Given the description of an element on the screen output the (x, y) to click on. 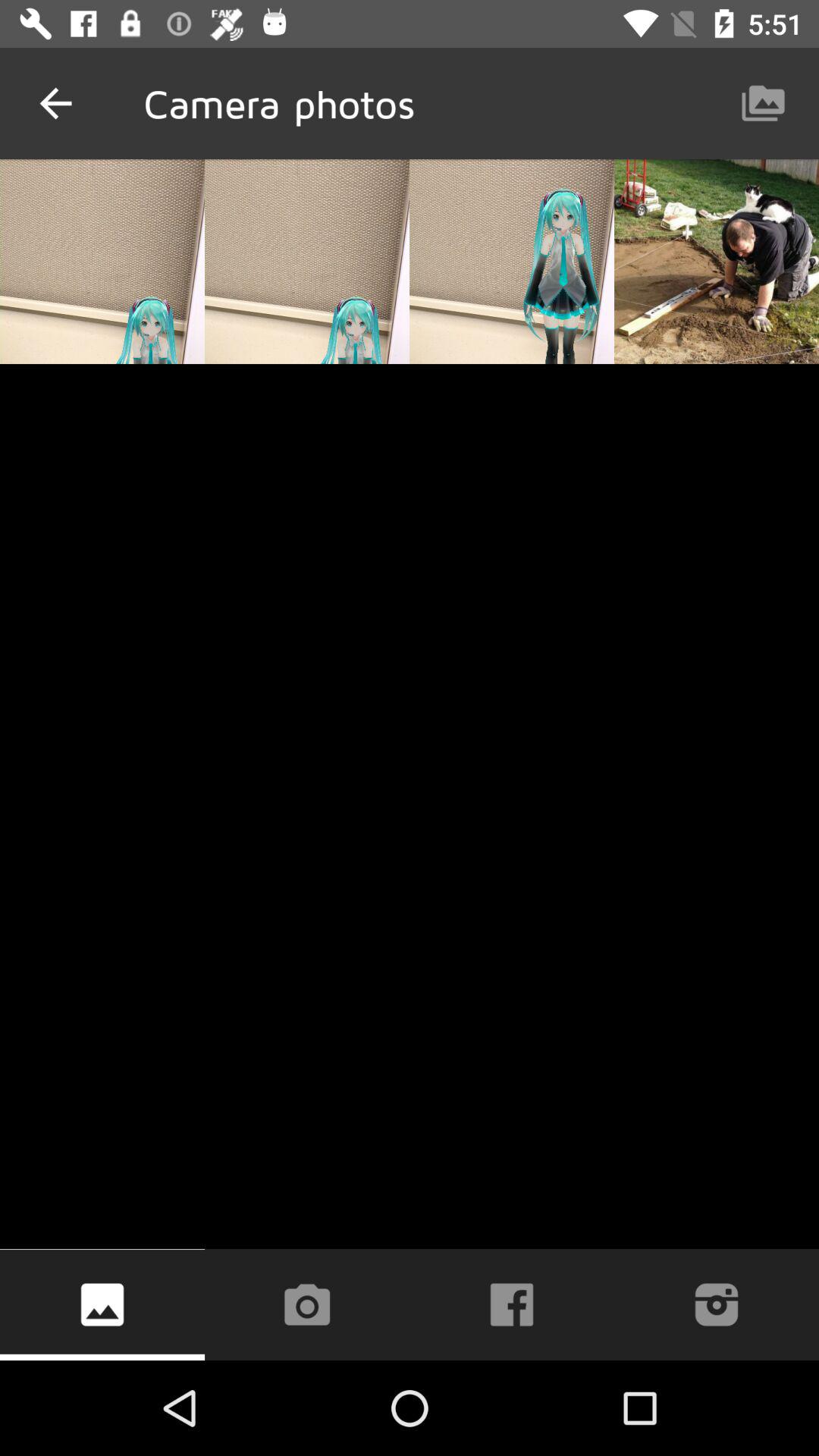
open instagram (716, 1304)
